Given the description of an element on the screen output the (x, y) to click on. 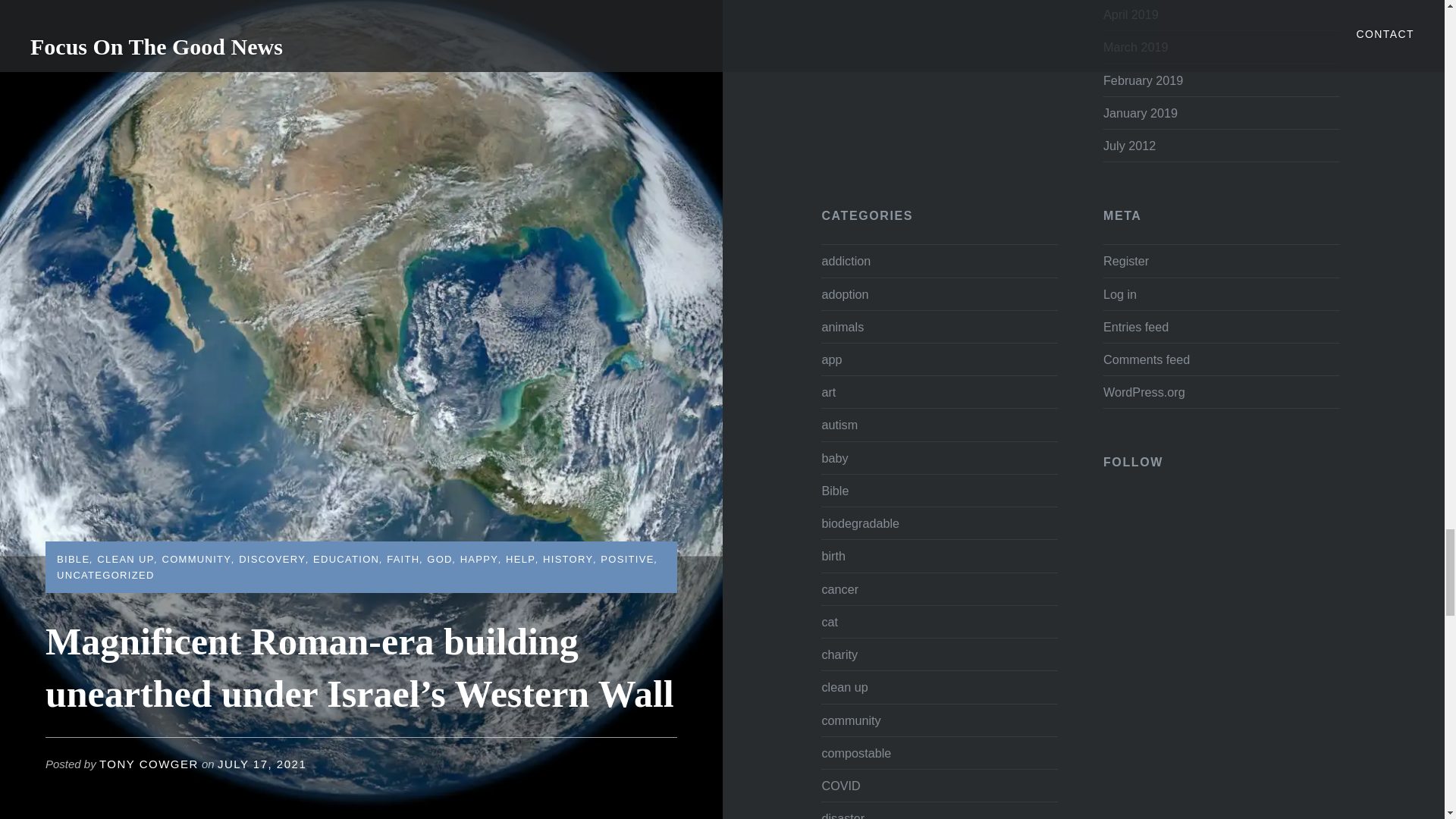
Follow Button (1221, 498)
